Given the description of an element on the screen output the (x, y) to click on. 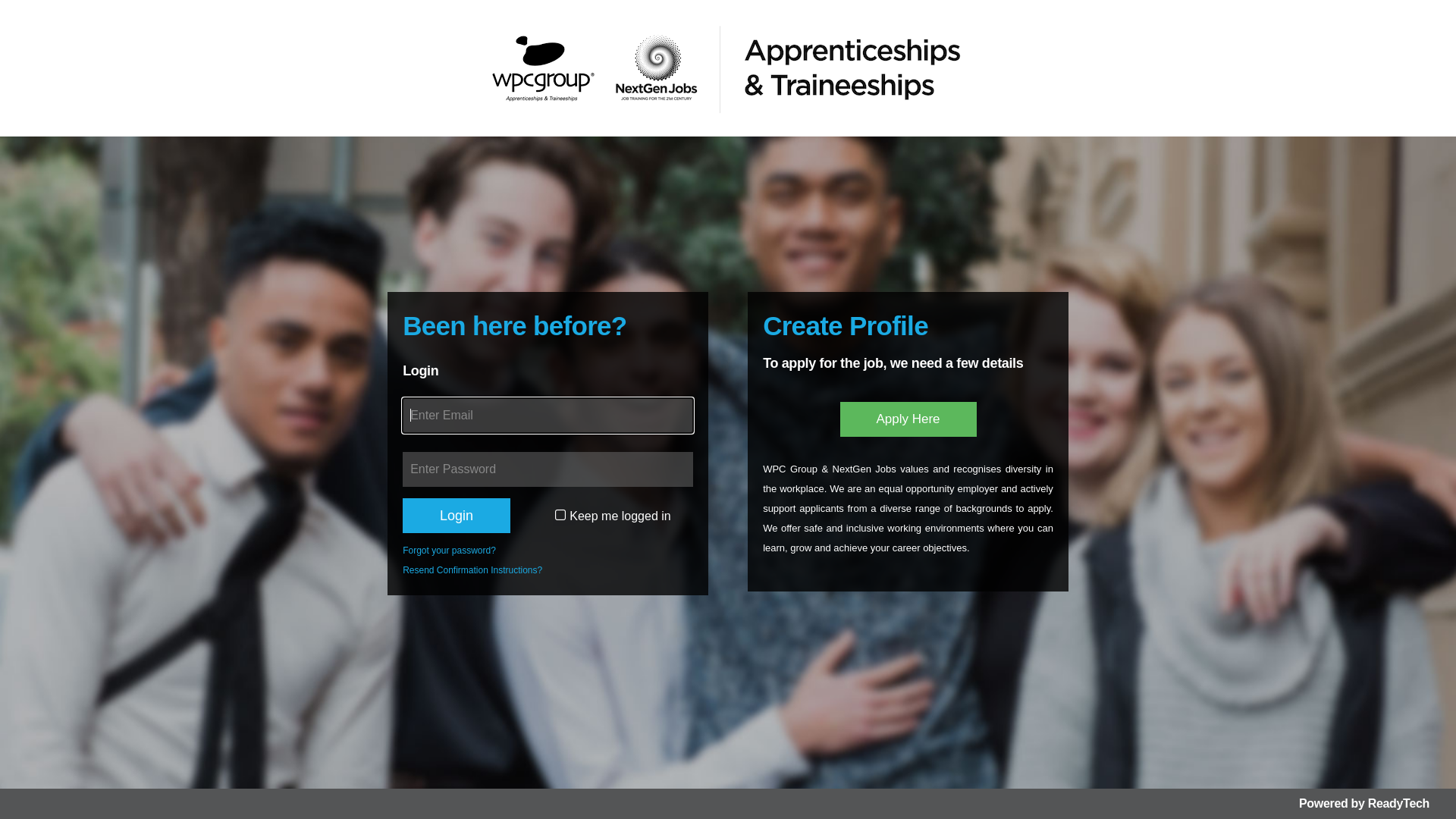
Forgot your password? Element type: text (448, 550)
Resend Confirmation Instructions? Element type: text (472, 570)
Login Element type: text (456, 515)
Apply Here Element type: text (908, 418)
